Given the description of an element on the screen output the (x, y) to click on. 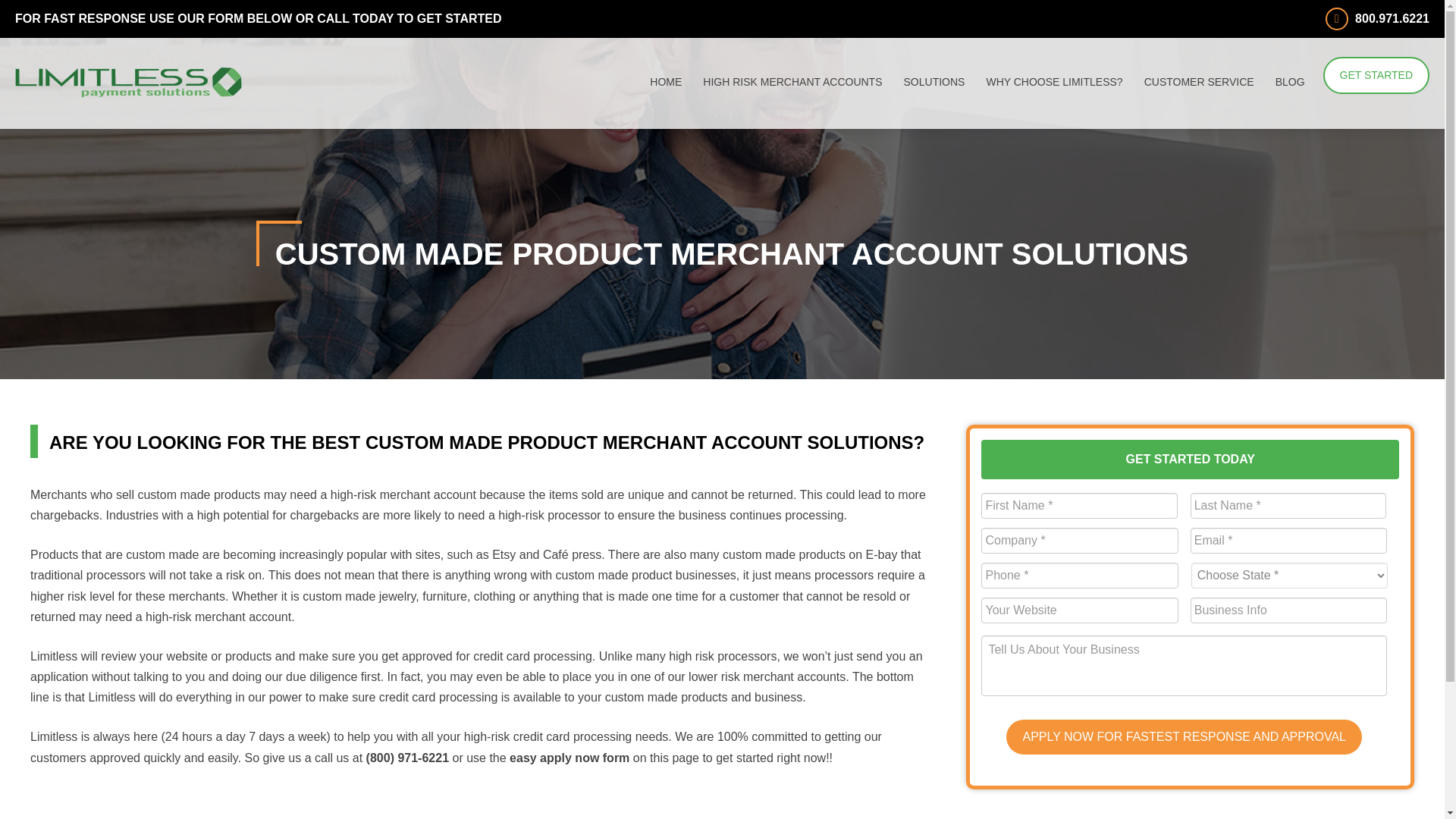
CUSTOMER SERVICE (1199, 81)
Call with Google Voice (407, 757)
800.971.6221 (1376, 18)
APPLY NOW FOR FASTEST RESPONSE AND APPROVAL (1183, 736)
SOLUTIONS (934, 81)
WHY CHOOSE LIMITLESS? (1053, 81)
HIGH RISK MERCHANT ACCOUNTS (792, 81)
APPLY NOW FOR FASTEST RESPONSE AND APPROVAL (1183, 736)
GET STARTED (1376, 75)
